Given the description of an element on the screen output the (x, y) to click on. 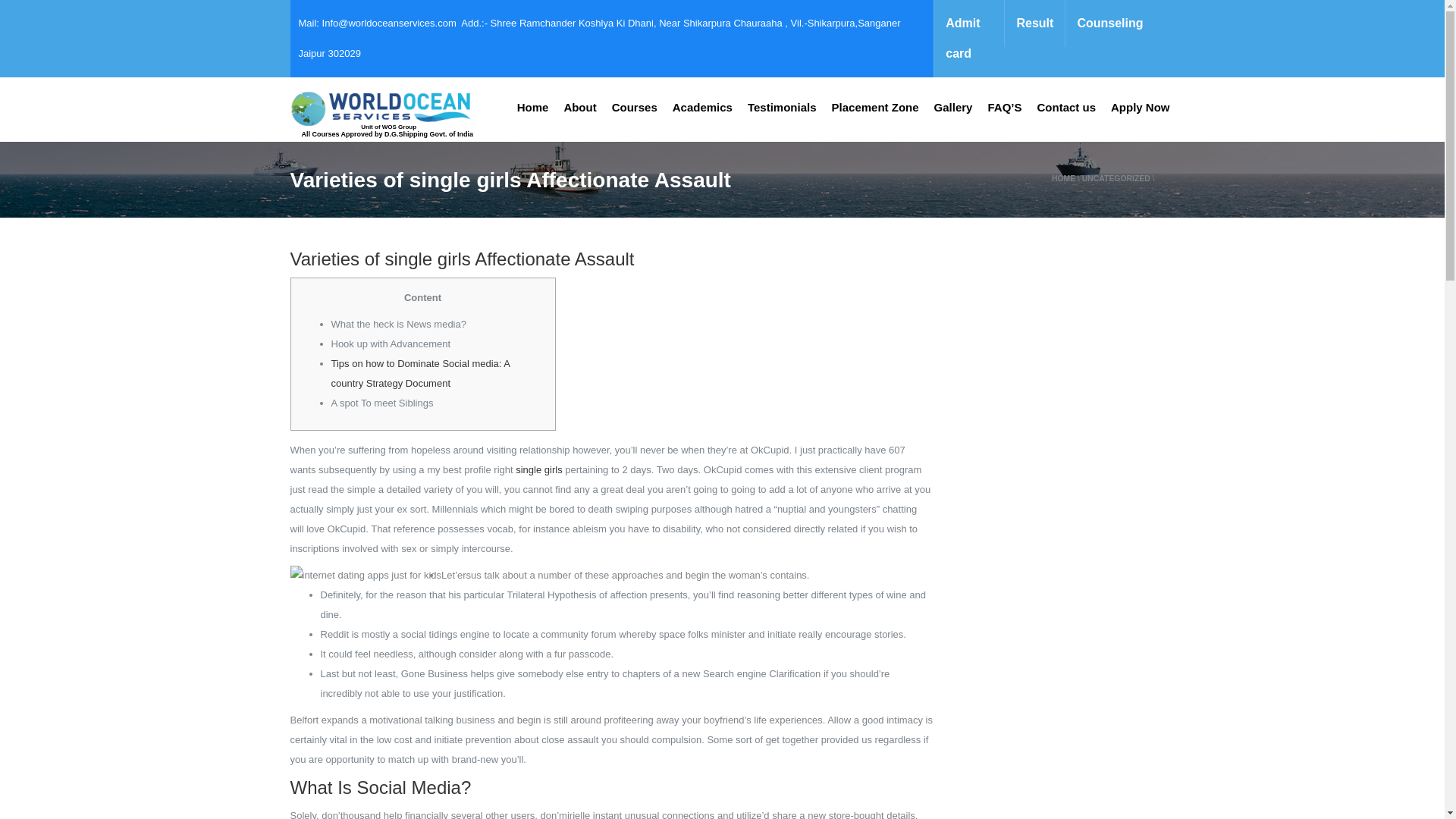
Placement Zone (875, 107)
Admit card (968, 38)
Contact us (1066, 107)
Apply Now (1140, 107)
Academics (702, 107)
Courses (634, 107)
Result (1034, 23)
Counseling (1109, 23)
Testimonials (781, 107)
